Given the description of an element on the screen output the (x, y) to click on. 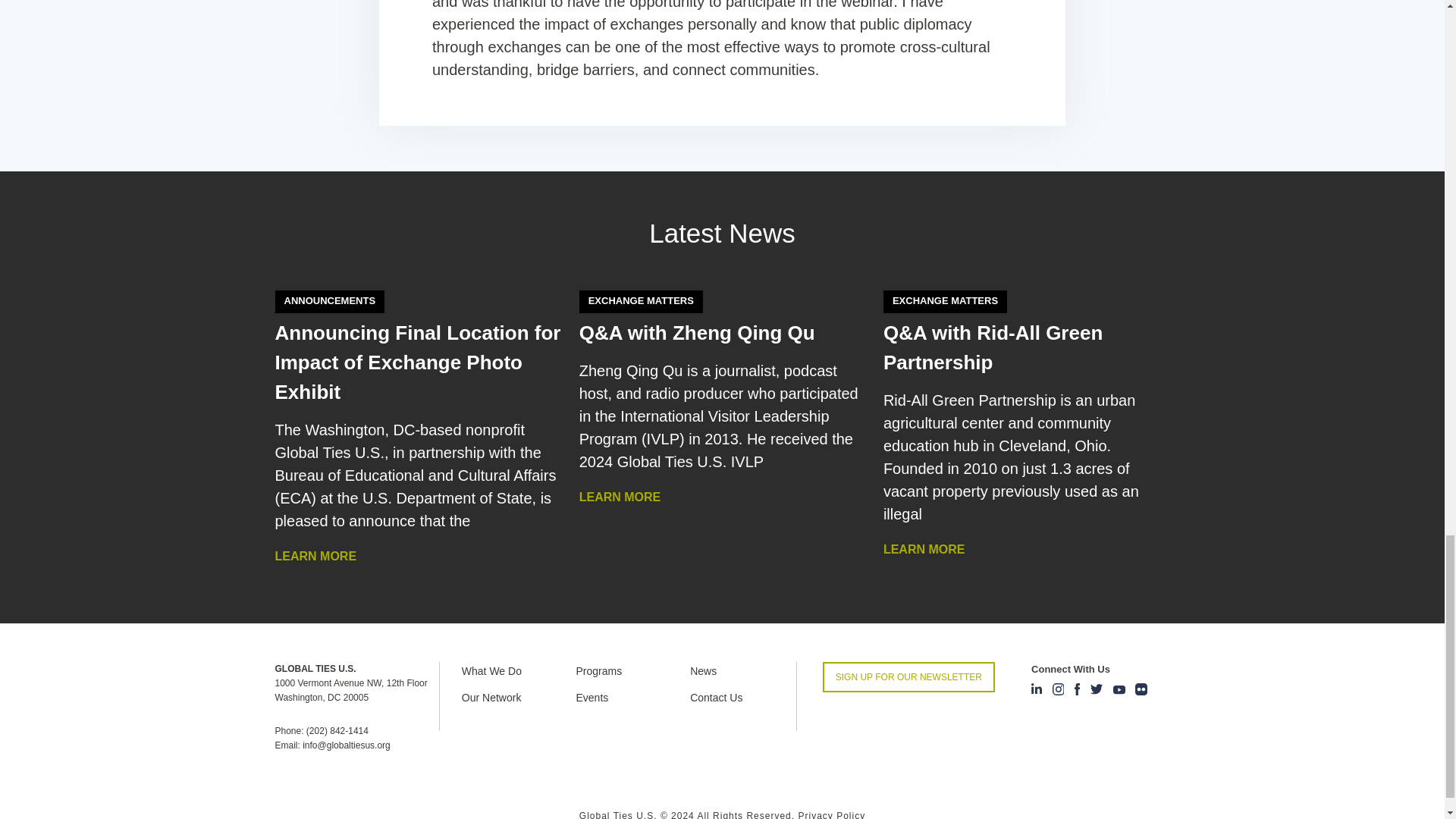
Read the full article:  (708, 332)
Read the full article:  (992, 347)
Read the full article:  (417, 362)
